Given the description of an element on the screen output the (x, y) to click on. 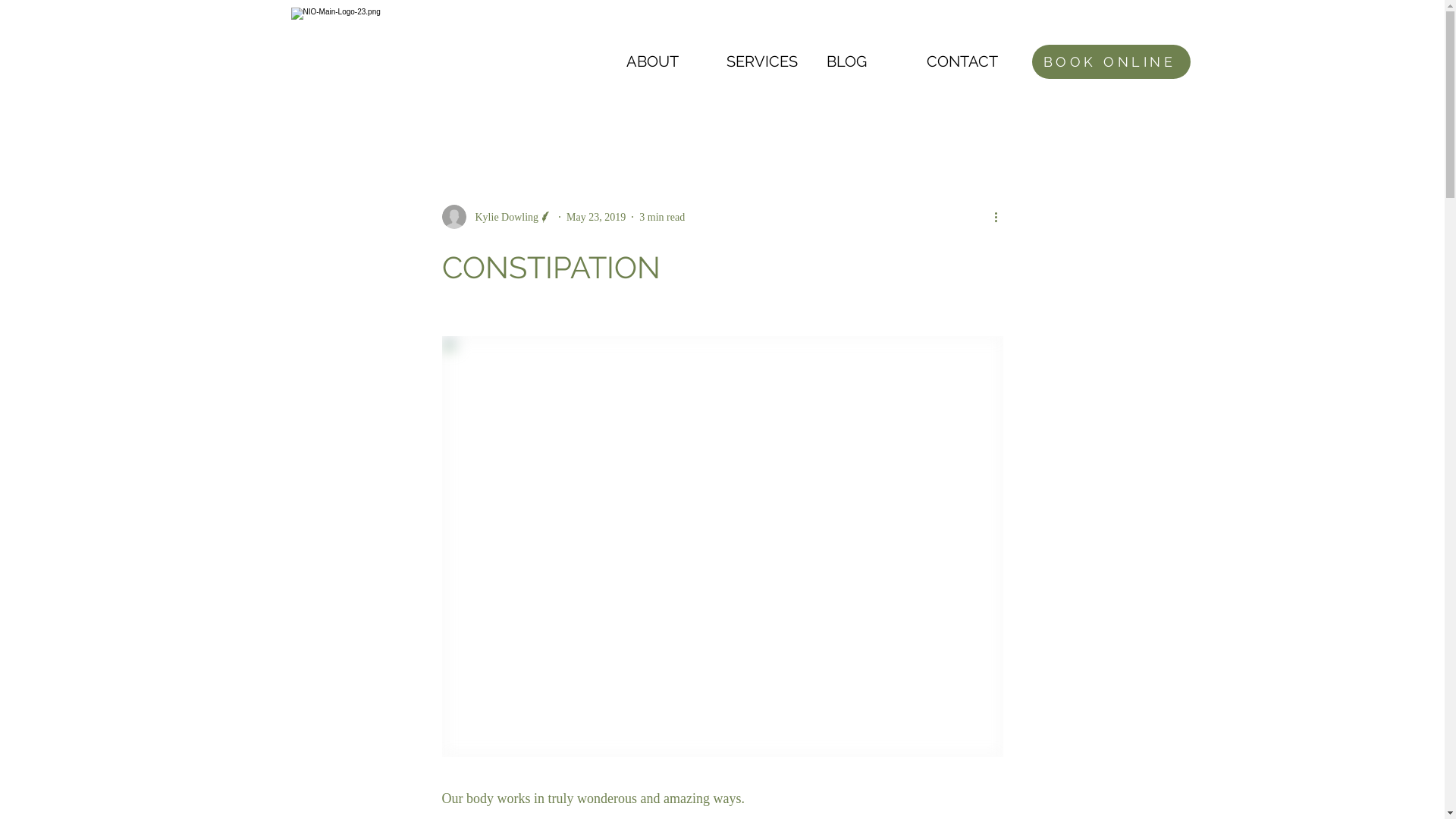
CONTACT Element type: text (968, 61)
BOOK ONLINE Element type: text (1110, 61)
BLOG Element type: text (869, 61)
ABOUT Element type: text (668, 61)
Kylie Dowling Element type: text (496, 216)
SERVICES Element type: text (768, 61)
